Given the description of an element on the screen output the (x, y) to click on. 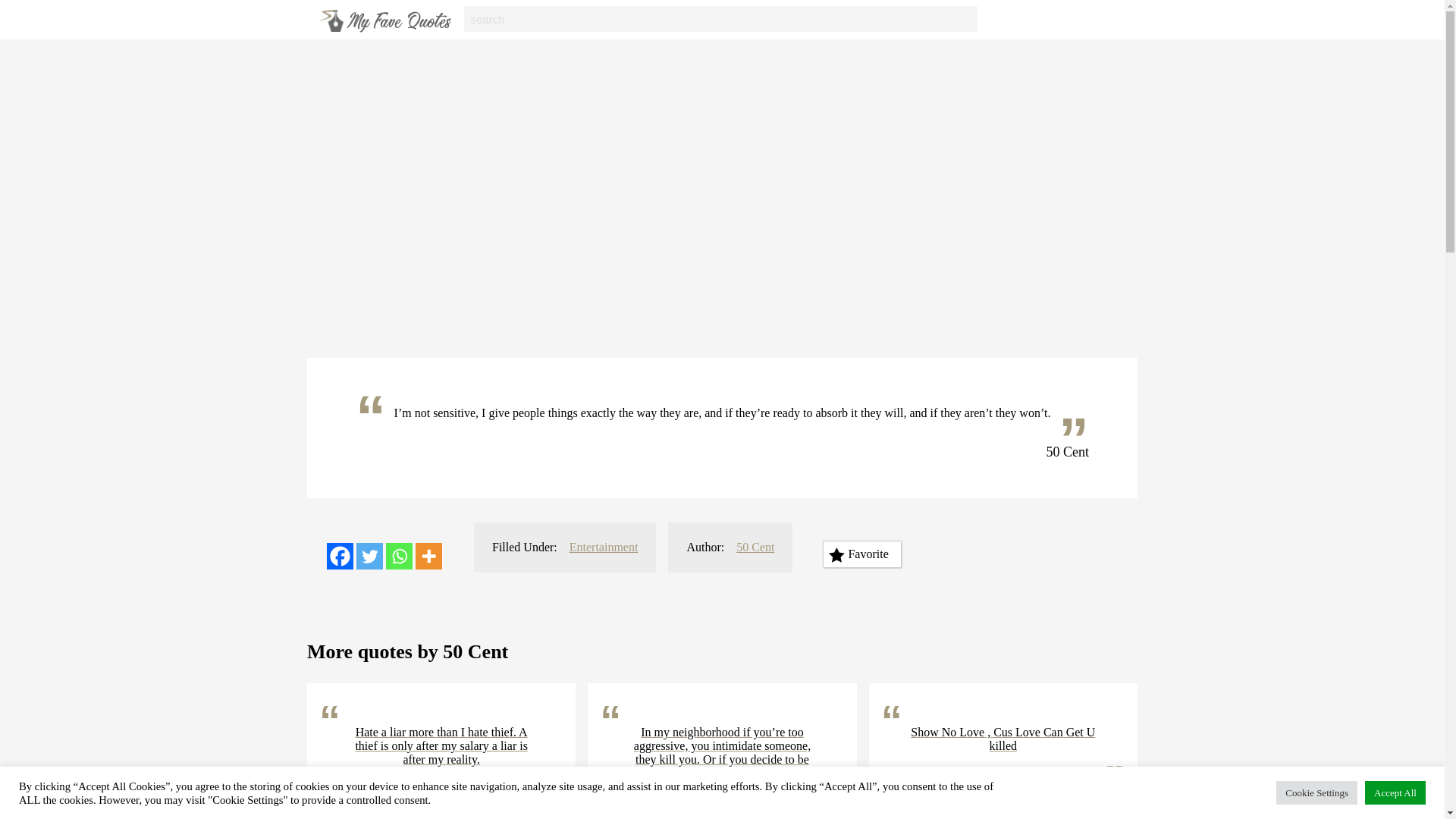
Entertainment (604, 546)
Twitter (369, 555)
Whatsapp (398, 555)
50 Cent (530, 811)
Facebook (339, 555)
Show No Love , Cus Love Can Get U killed (1002, 738)
More (428, 555)
50 Cent (755, 546)
50 Cent (1092, 799)
